Given the description of an element on the screen output the (x, y) to click on. 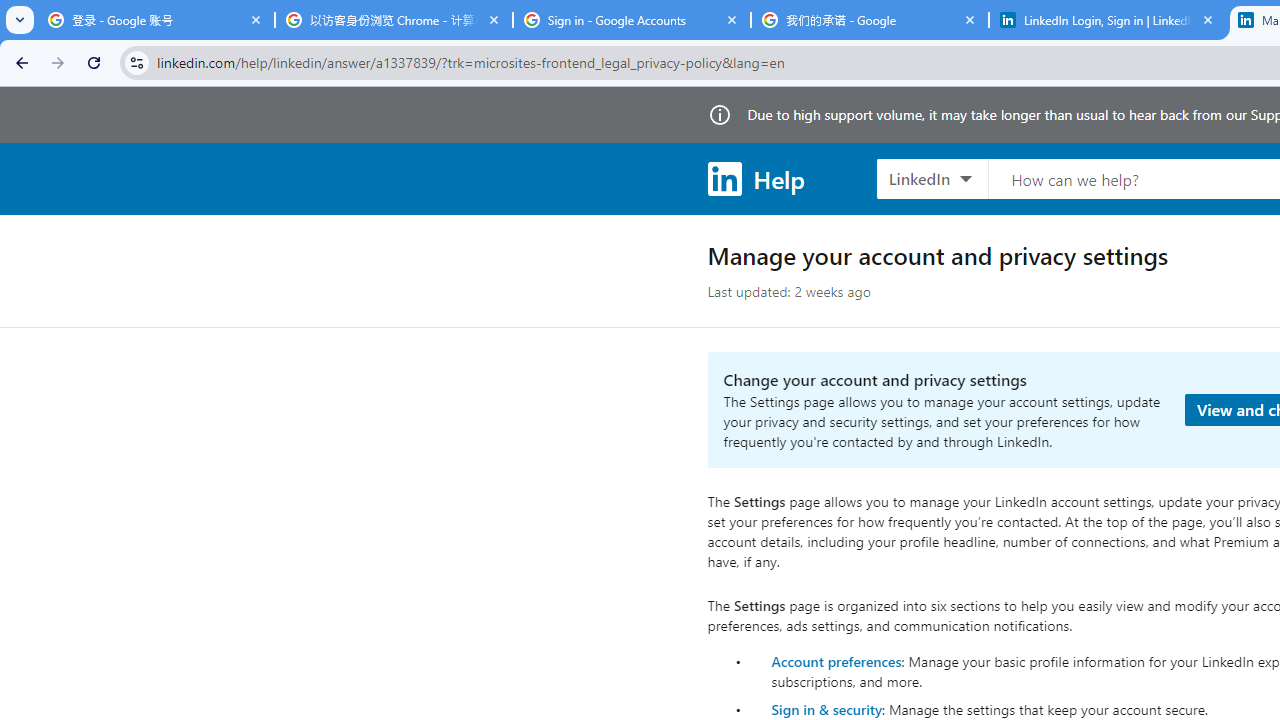
Sign in - Google Accounts (632, 20)
Sign in & security (826, 709)
Help (755, 178)
Account preferences (836, 660)
LinkedIn Login, Sign in | LinkedIn (1108, 20)
